Given the description of an element on the screen output the (x, y) to click on. 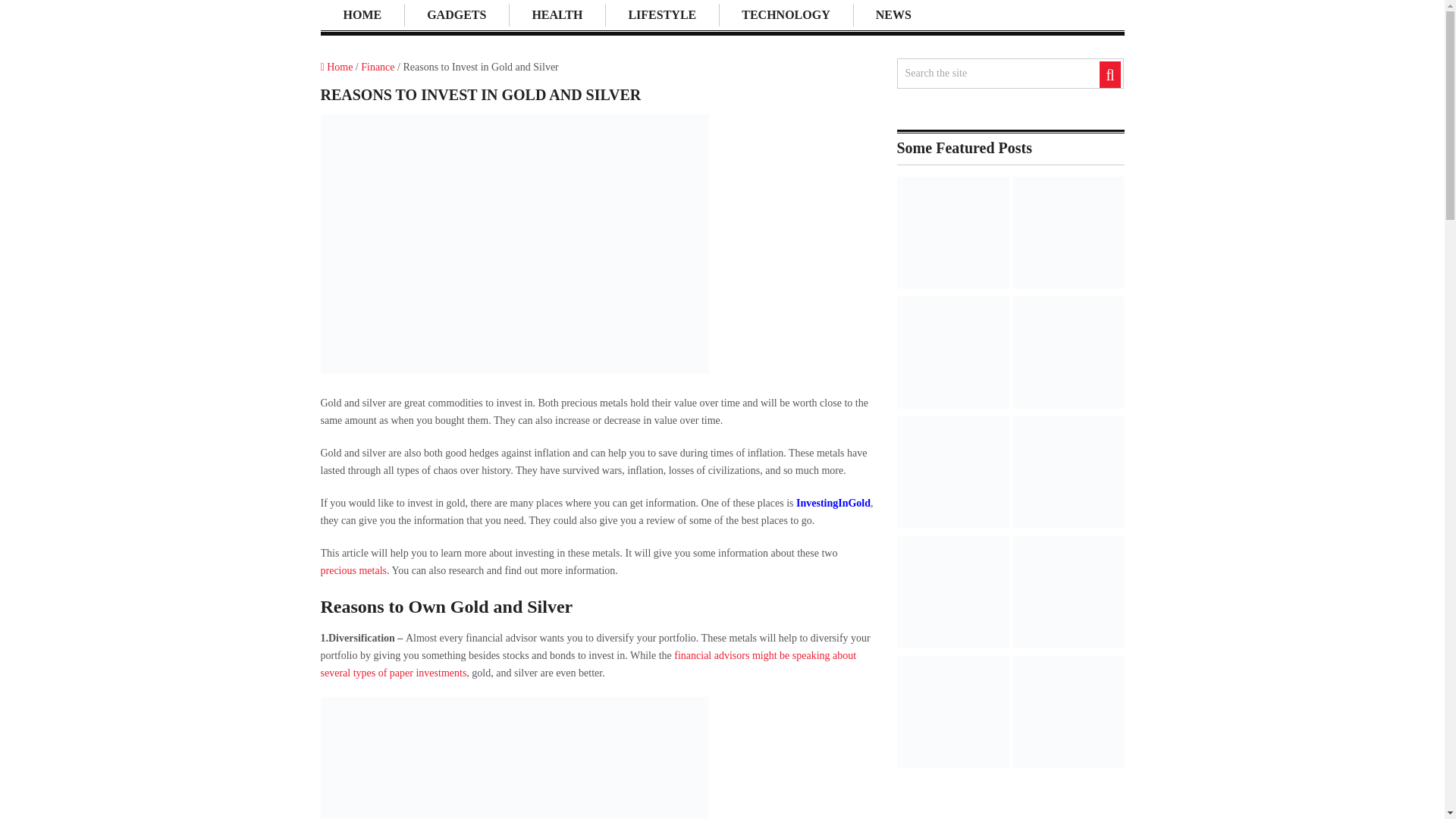
LIFESTYLE (662, 15)
How To Apply Egg Yolk For Skin Whitening (952, 594)
InvestingInGold (833, 502)
NEWS (893, 15)
Dragon Fruit Side Effect on Human Health (1067, 354)
What Are The Objectives Of Consumer Awareness? (952, 714)
Why Smoking Is Injurious To Health? (1067, 234)
HEALTH (556, 15)
precious metals (352, 570)
 Home (336, 66)
Search the site (992, 72)
Things to Consider When Choosing Dresses For Wedding Guests (1067, 594)
52 Simple Blouse Designs For Lehenga (1067, 474)
HOME (362, 15)
